Given the description of an element on the screen output the (x, y) to click on. 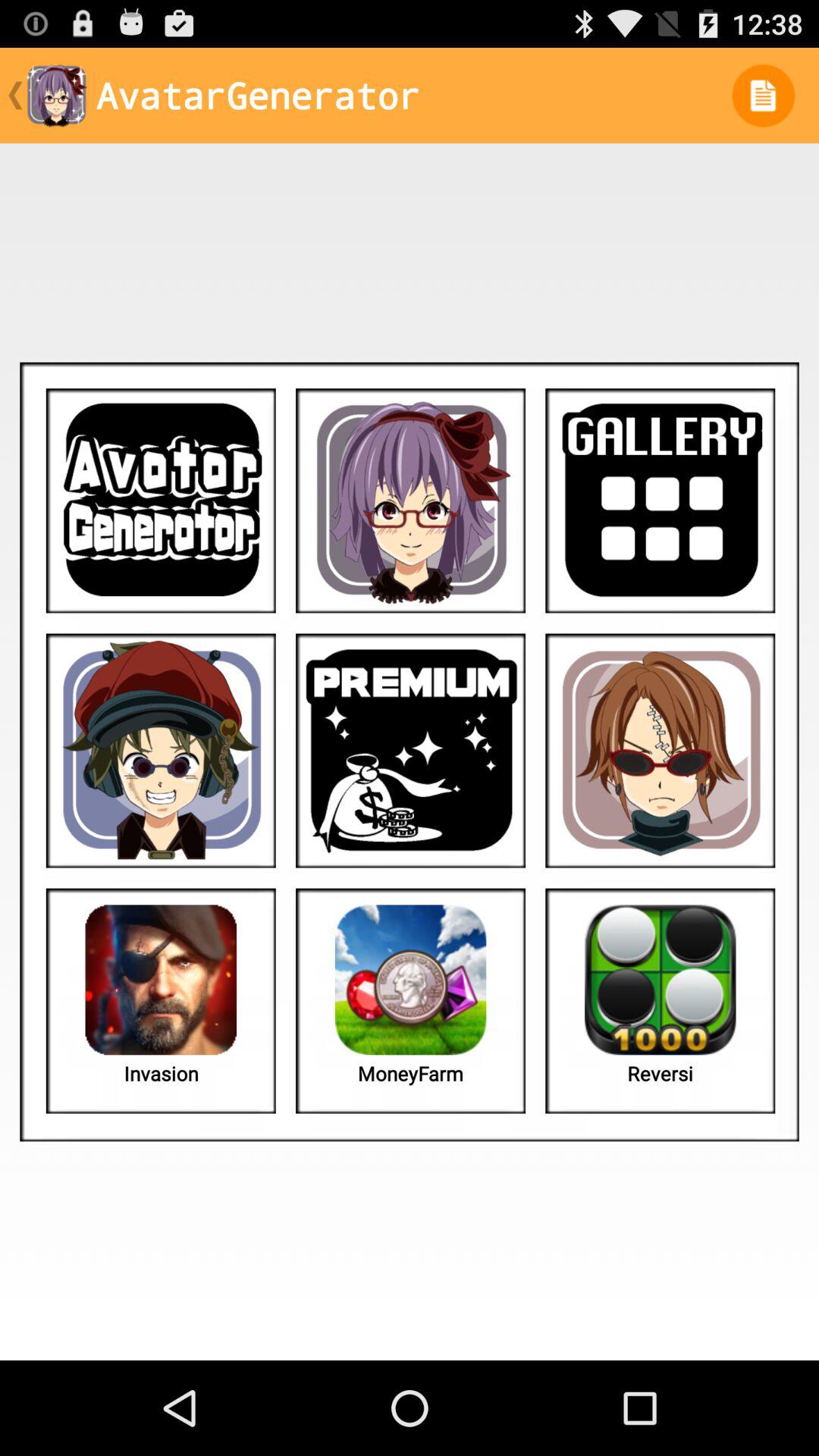
open gallery (660, 500)
